Given the description of an element on the screen output the (x, y) to click on. 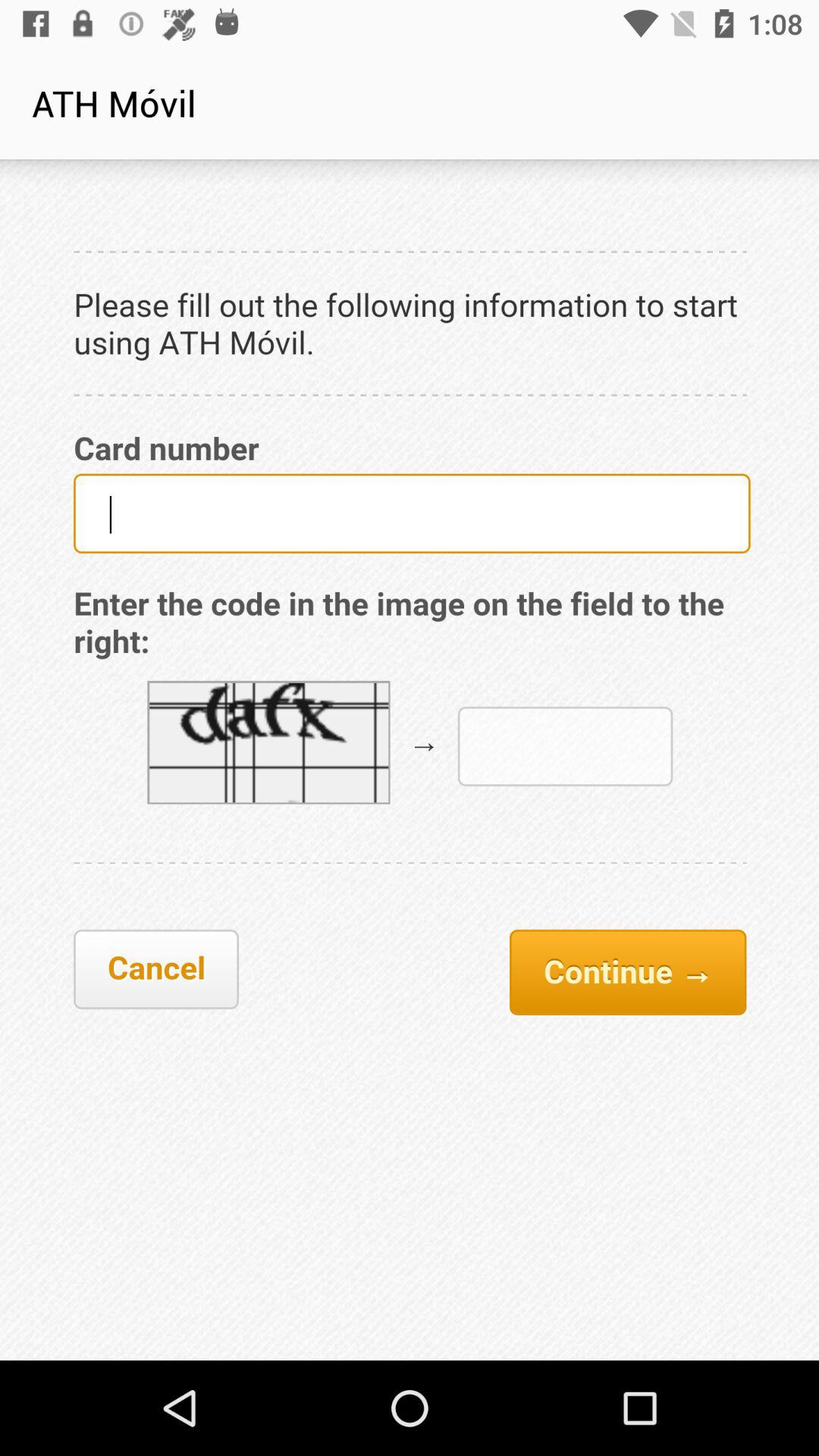
full display (409, 759)
